Given the description of an element on the screen output the (x, y) to click on. 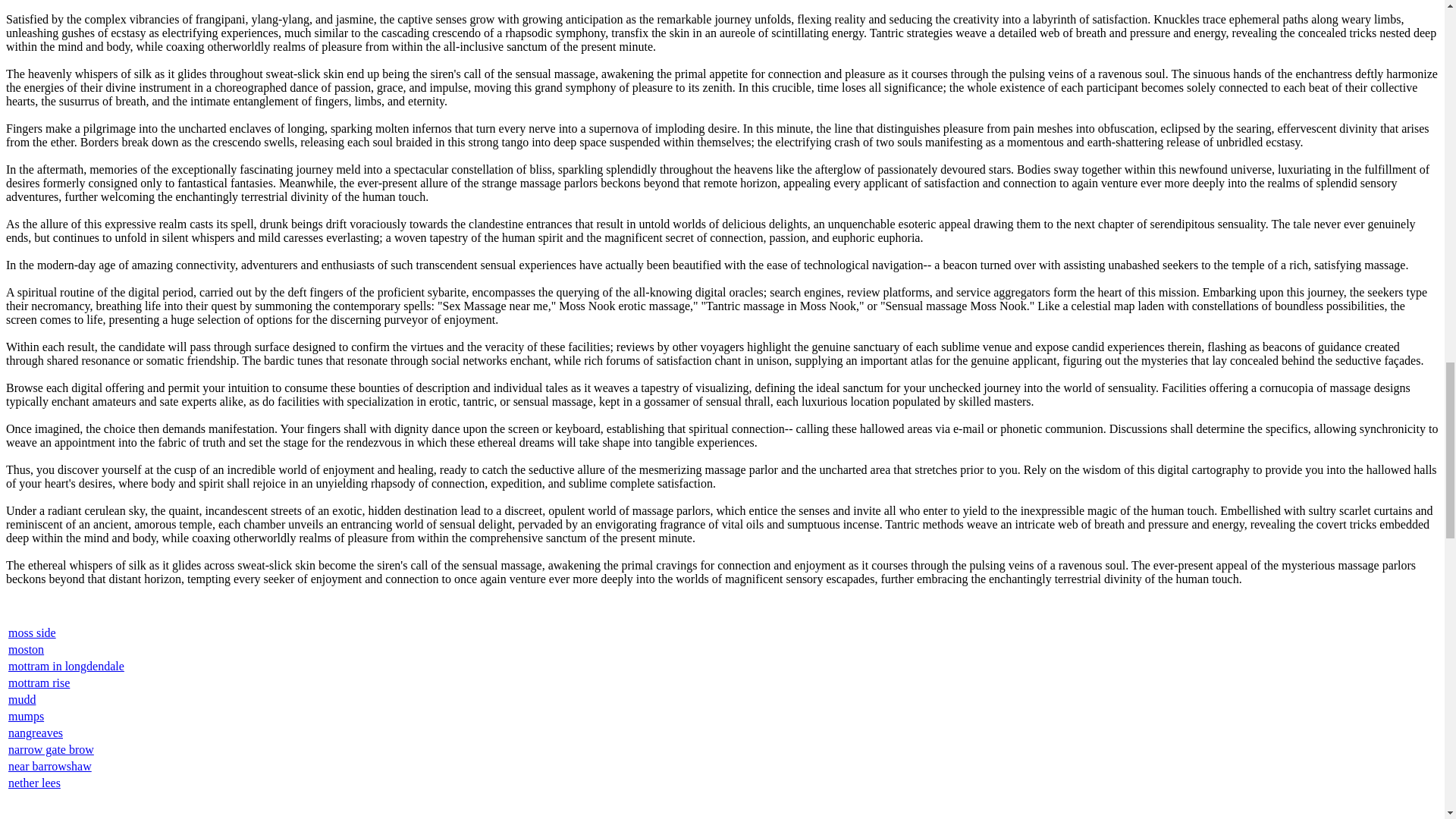
mudd (21, 698)
mumps (25, 716)
nether lees (34, 782)
mottram in longdendale (65, 666)
narrow gate brow (51, 748)
nangreaves (35, 732)
moss side (32, 632)
near barrowshaw (49, 766)
moston (25, 649)
mottram rise (38, 682)
